Given the description of an element on the screen output the (x, y) to click on. 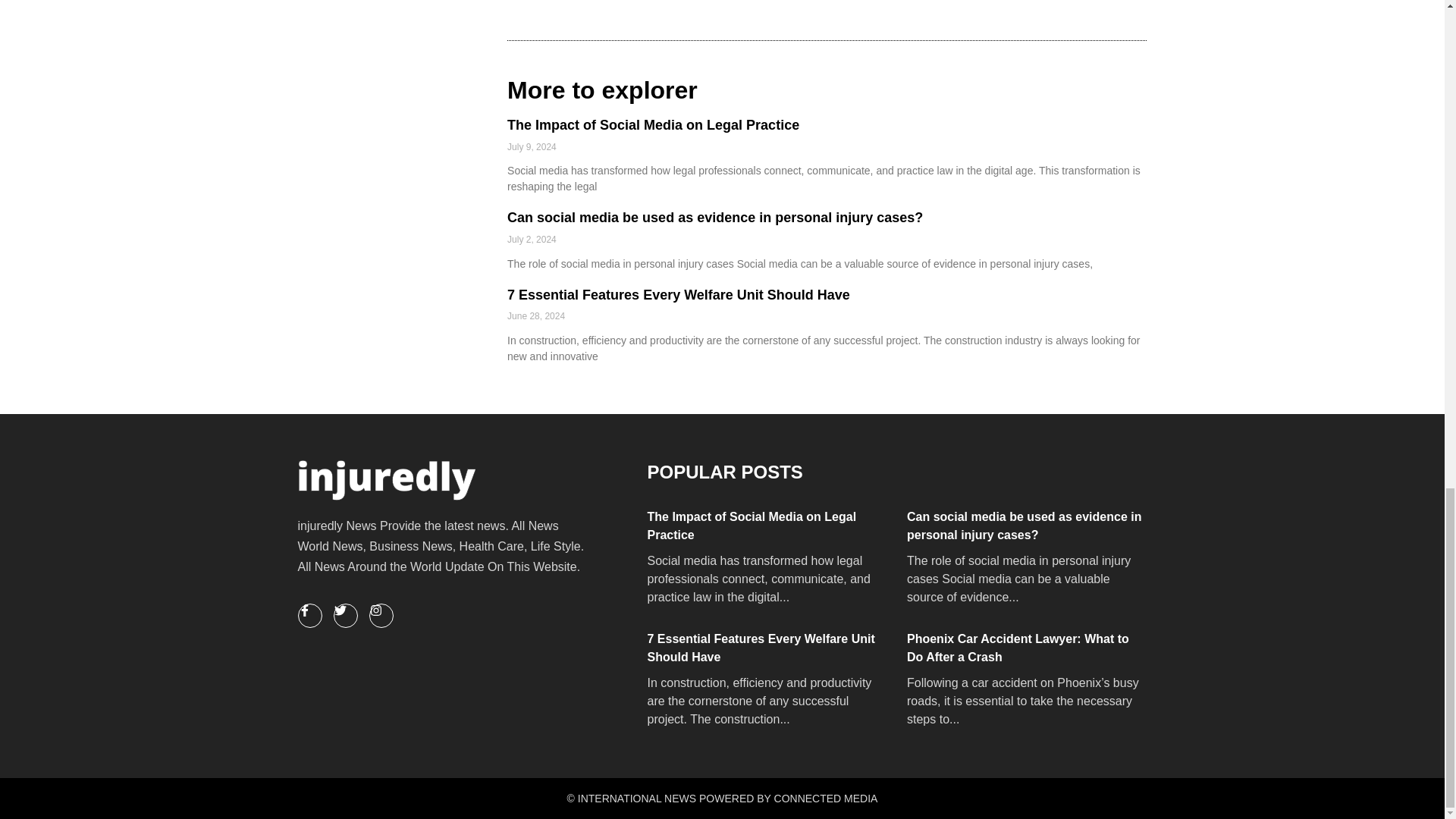
7 Essential Features Every Welfare Unit Should Have (765, 647)
The Impact of Social Media on Legal Practice (765, 525)
Phoenix Car Accident Lawyer: What to Do After a Crash (1024, 647)
